Given the description of an element on the screen output the (x, y) to click on. 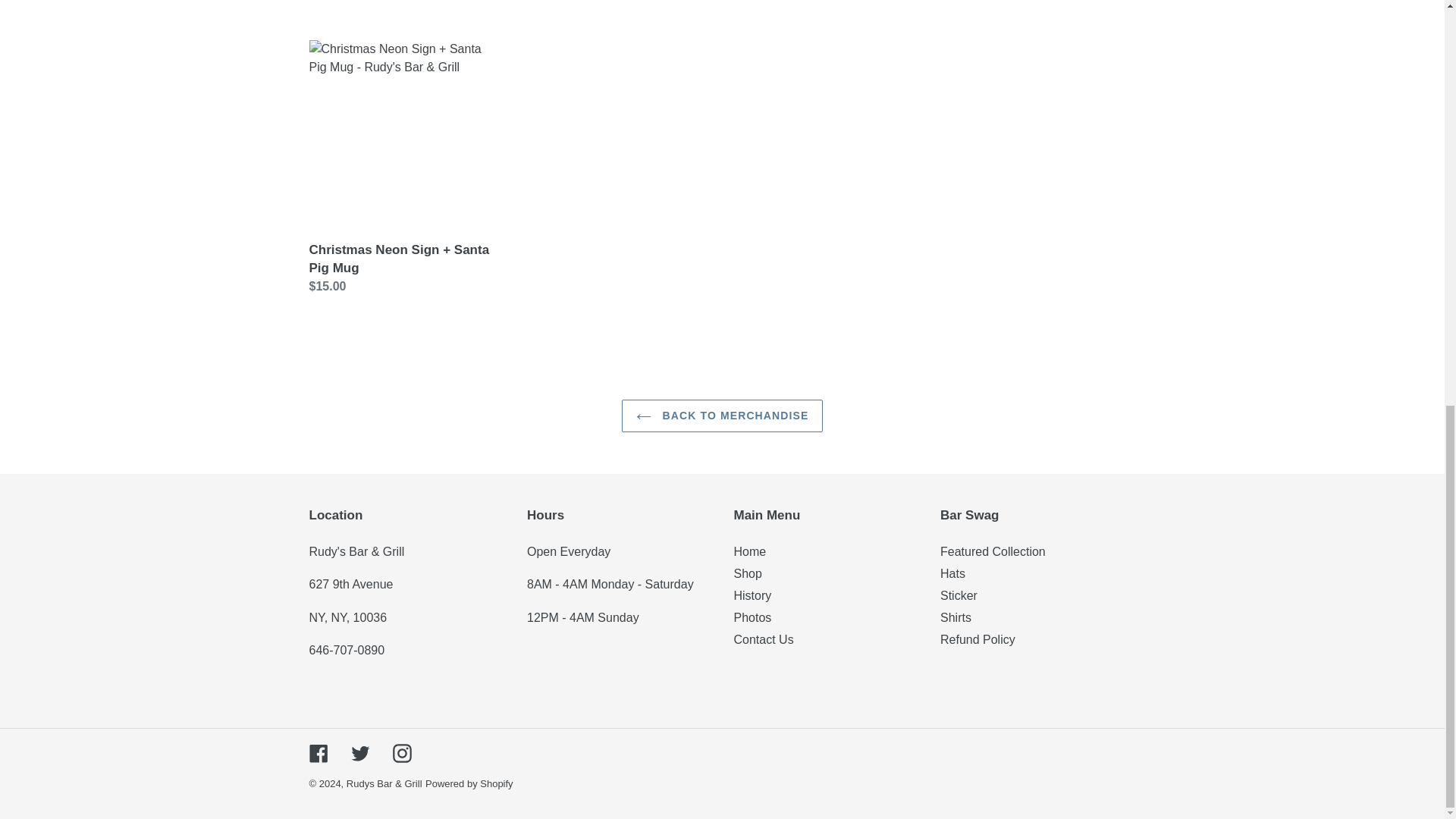
History (752, 594)
Home (750, 551)
Shop (747, 573)
BACK TO MERCHANDISE (722, 415)
